Given the description of an element on the screen output the (x, y) to click on. 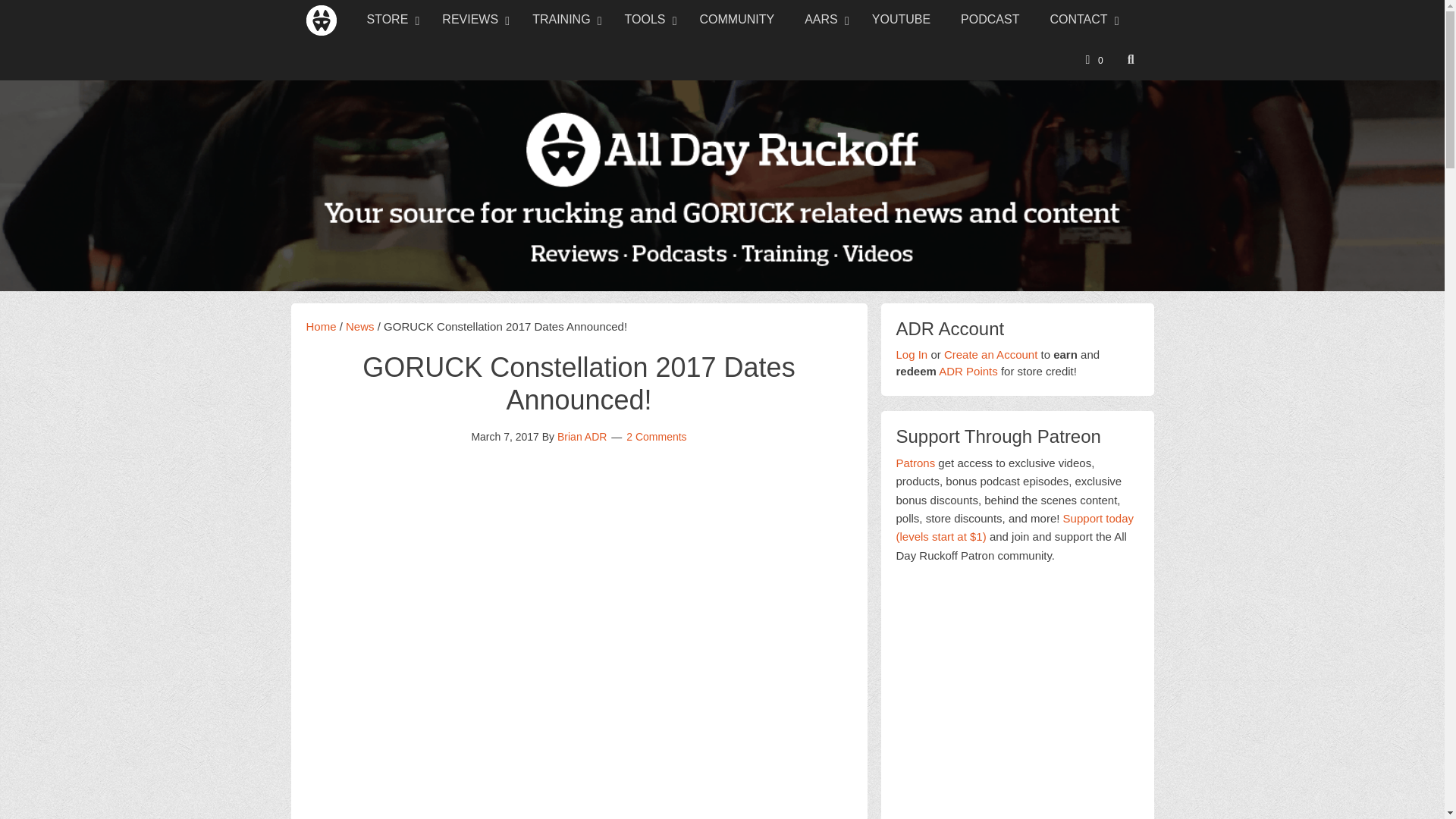
GORUCK Constellation Outcomes (578, 734)
REVIEWS (471, 20)
STORE (390, 20)
